Given the description of an element on the screen output the (x, y) to click on. 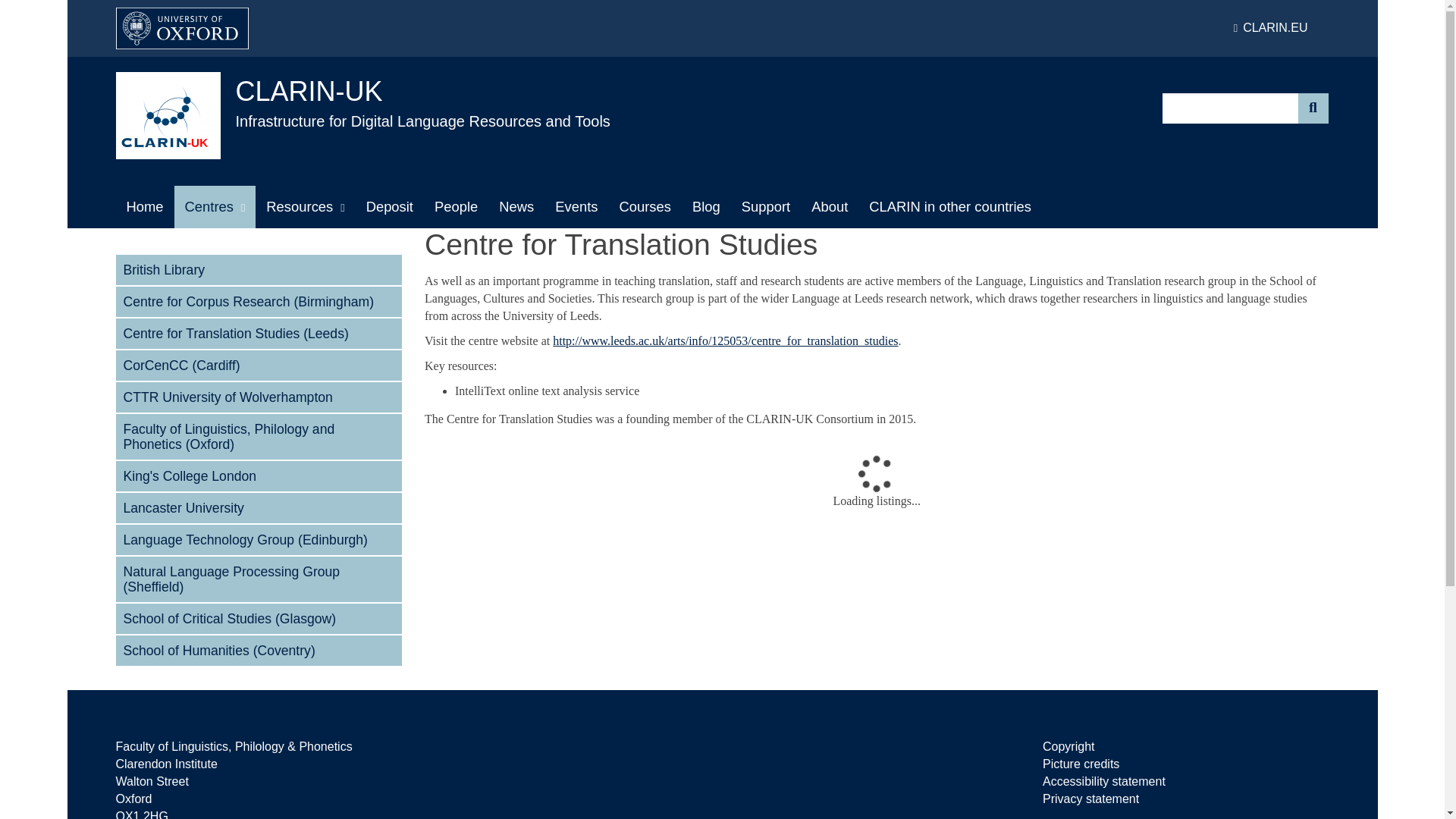
CLARIN-UK (307, 91)
Centres (215, 206)
Enter the terms you wish to search for (1229, 108)
CLARIN.EU (1270, 28)
Resources (305, 206)
CLARIN (1270, 28)
Home (144, 206)
Search (1312, 108)
